Given the description of an element on the screen output the (x, y) to click on. 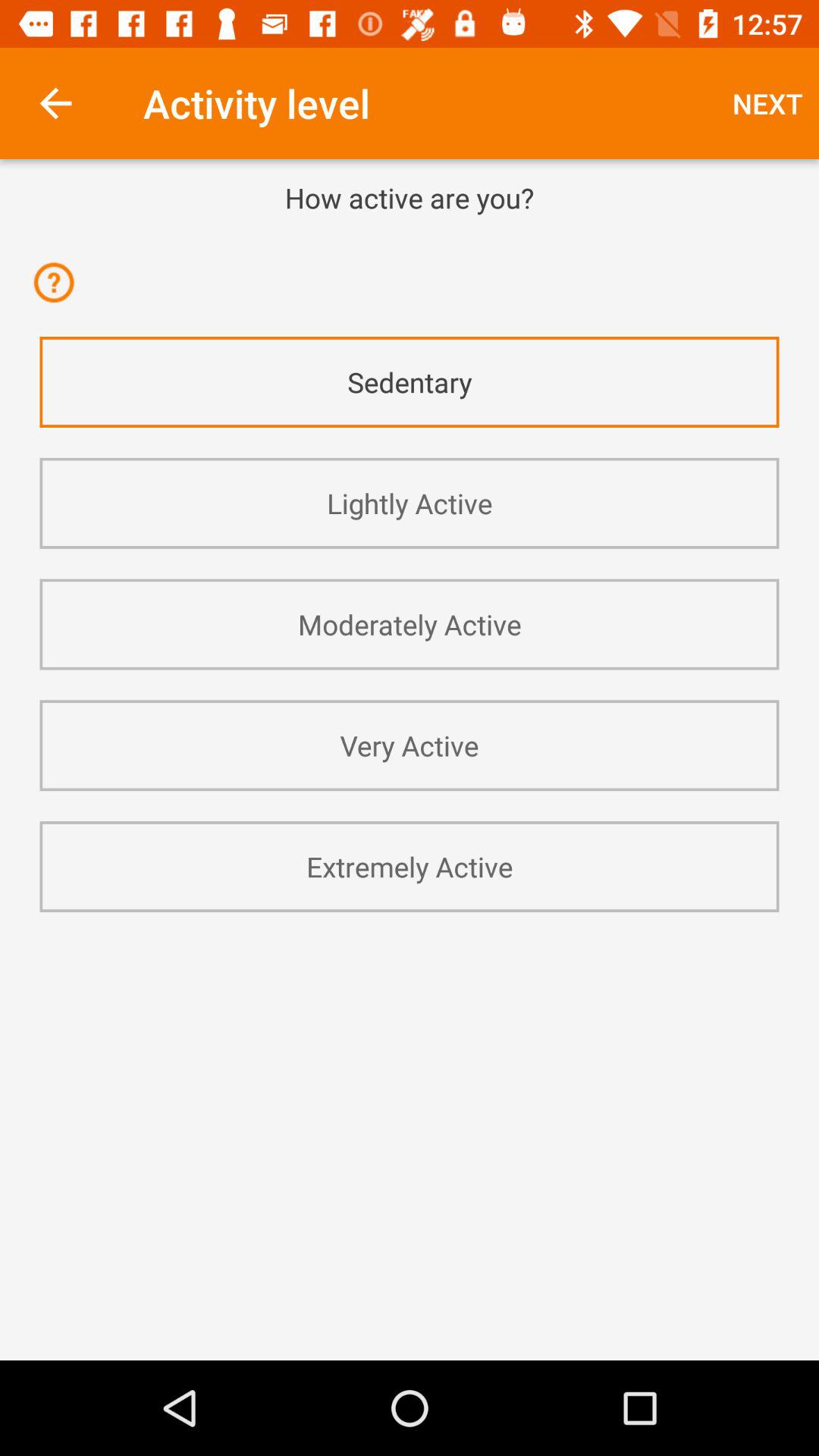
swipe to the lightly active icon (409, 503)
